Given the description of an element on the screen output the (x, y) to click on. 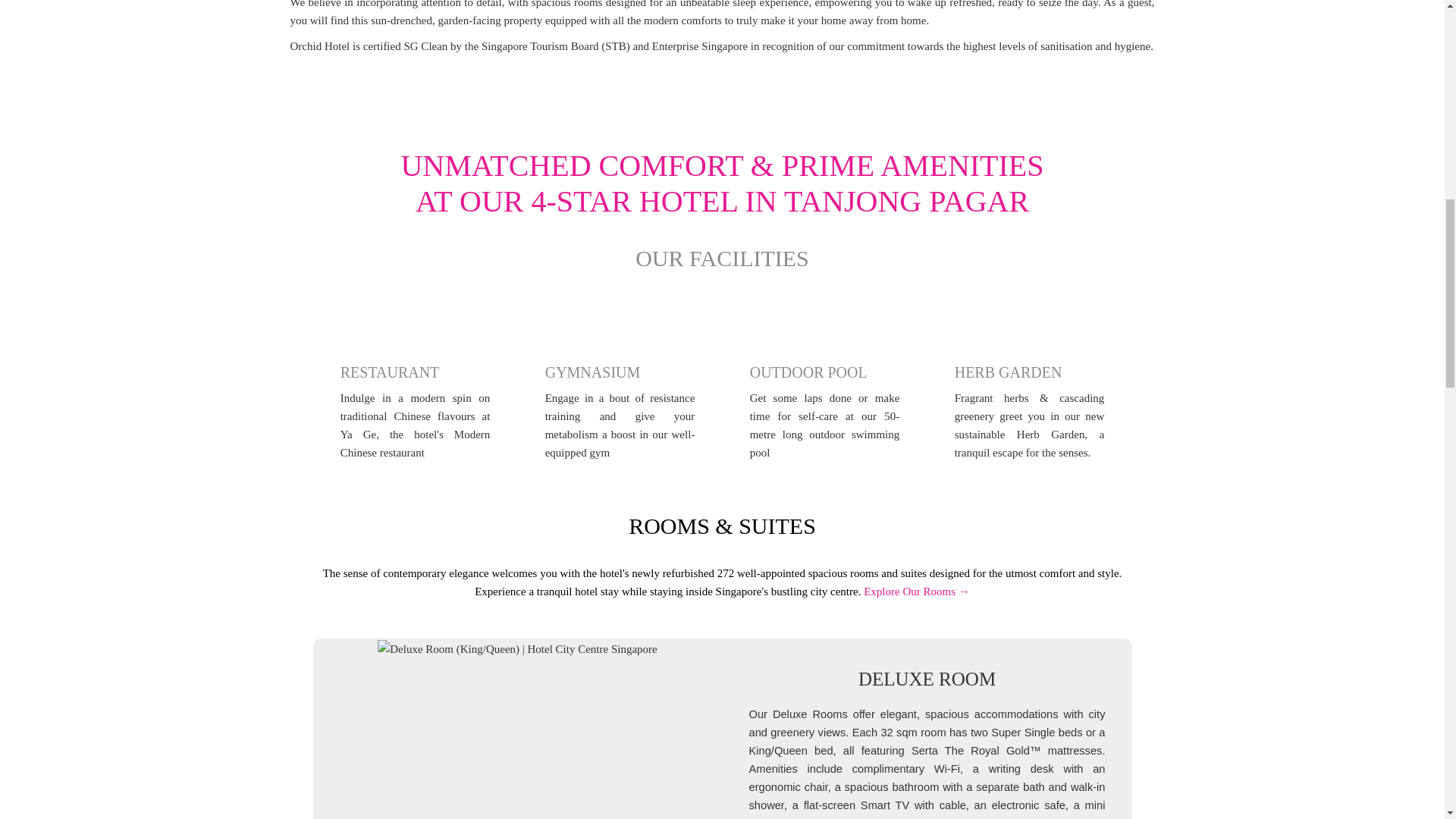
Read more about Herb Garden  (1030, 393)
Read more about Outdoor Pool (824, 393)
Read more about Gymnasium (619, 393)
Read more about Restaurant (415, 393)
